Given the description of an element on the screen output the (x, y) to click on. 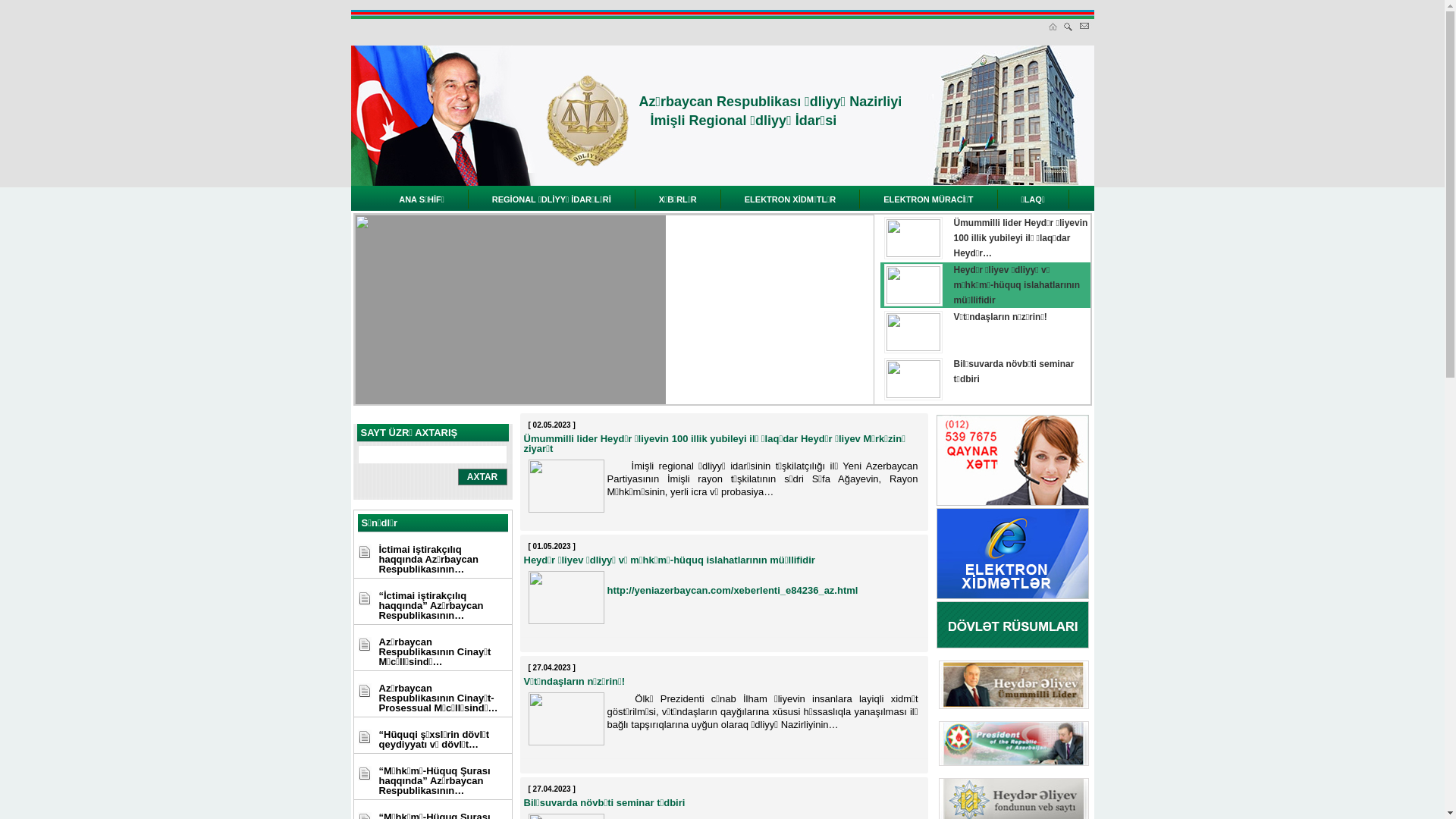
http://yeniazerbaycan.com/xeberlenti_e84236_az.html Element type: text (731, 590)
AXTAR Element type: text (482, 476)
